Given the description of an element on the screen output the (x, y) to click on. 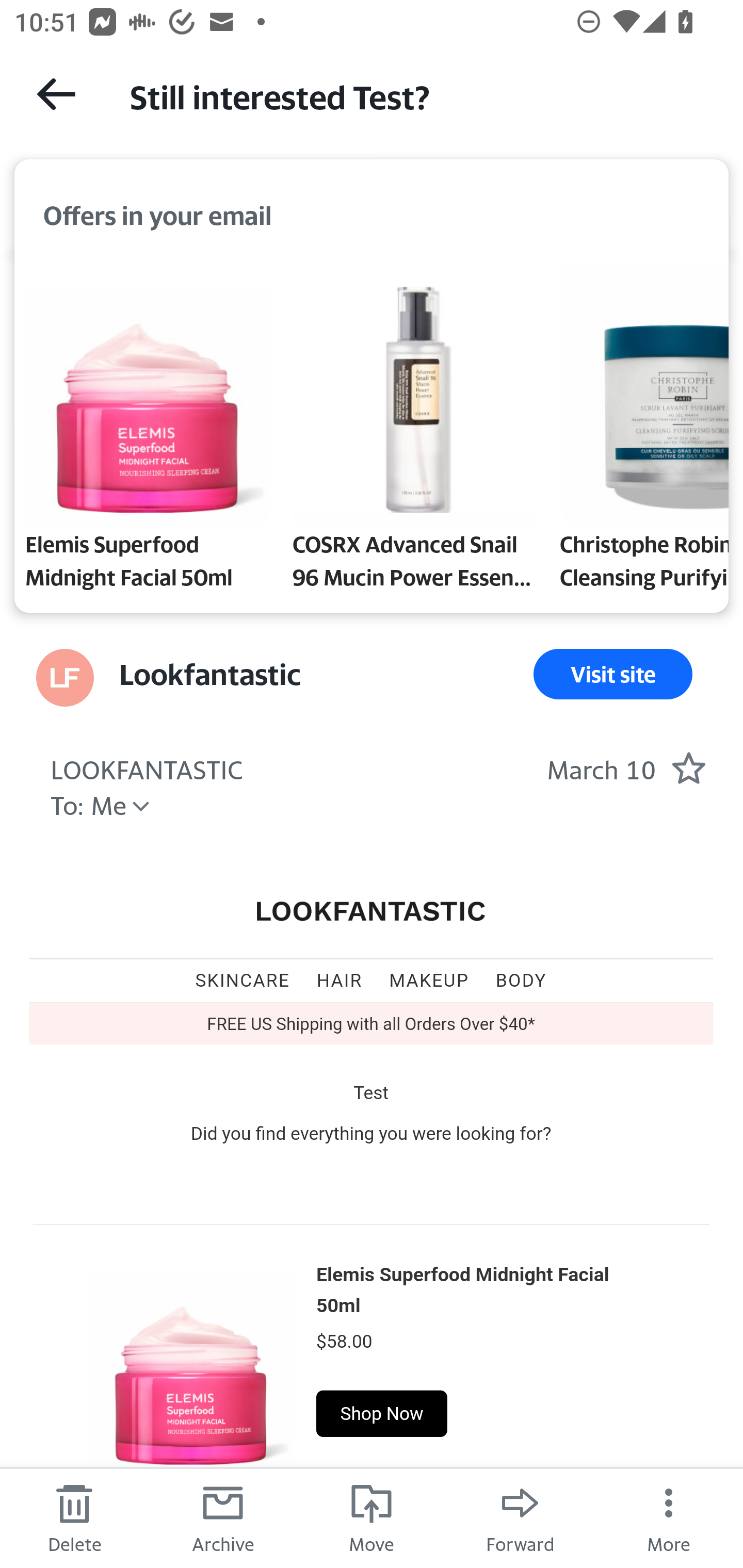
Back (55, 93)
Still interested Test? (418, 94)
Elemis Superfood Midnight Facial 50ml (147, 432)
COSRX Advanced Snail 96 Mucin Power Essence 100ml (415, 432)
View all messages from sender (64, 678)
Visit site Visit Site Link (612, 674)
Lookfantastic Sender Lookfantastic (209, 673)
LOOKFANTASTIC Sender LOOKFANTASTIC (146, 767)
Mark as starred. (688, 767)
lookfantastic (371, 911)
  SKINCARE   (242, 979)
  HAIR   (338, 979)
  MAKEUP   (428, 979)
  BODY   (520, 979)
Elemis Superfood Midnight Facial 50ml (190, 1360)
Elemis Superfood Midnight Facial 50ml (462, 1289)
Shop Now (381, 1413)
Delete (74, 1517)
Archive (222, 1517)
Move (371, 1517)
Forward (519, 1517)
More (668, 1517)
